Given the description of an element on the screen output the (x, y) to click on. 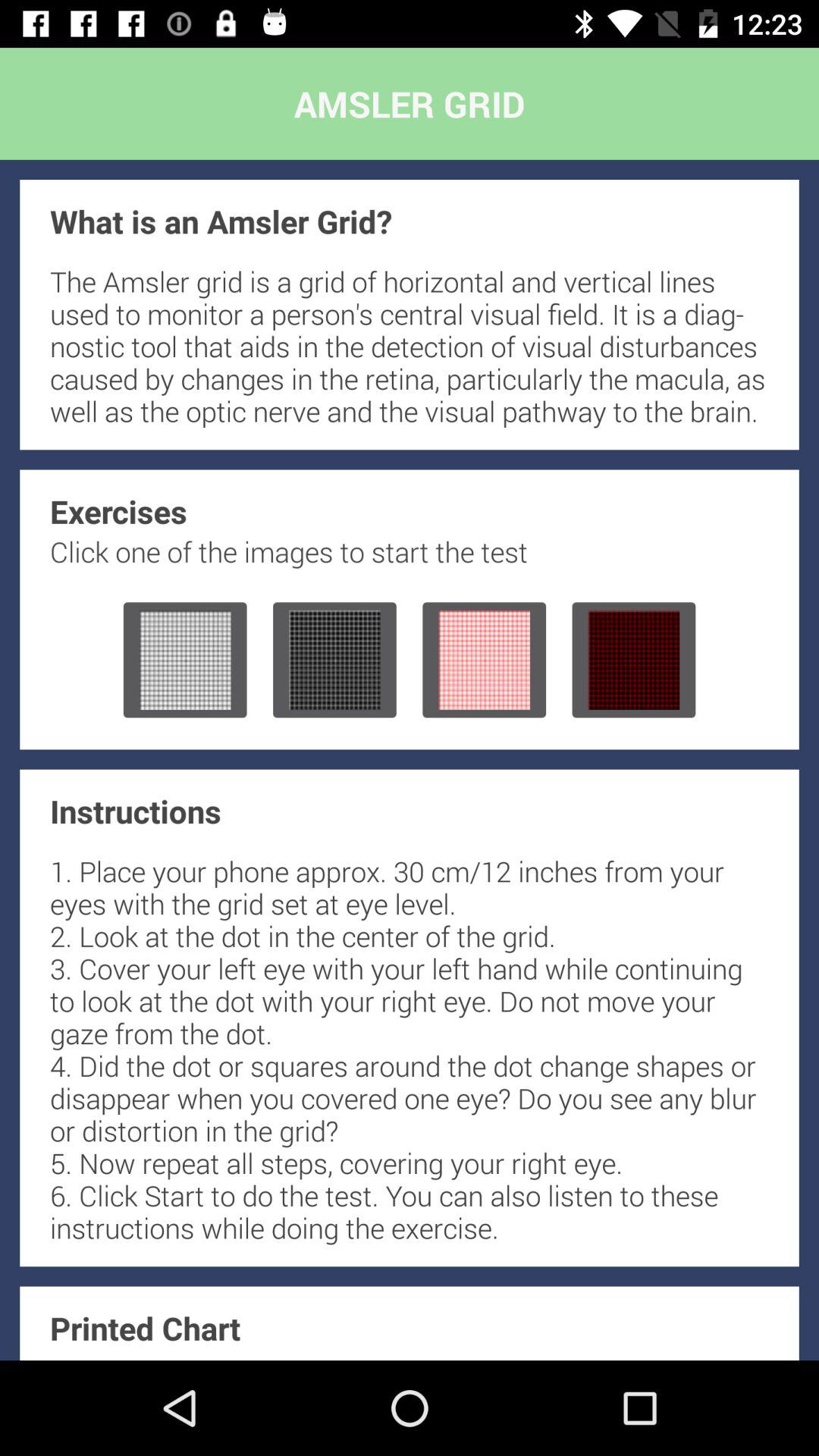
open the fourth exercise (633, 659)
